Given the description of an element on the screen output the (x, y) to click on. 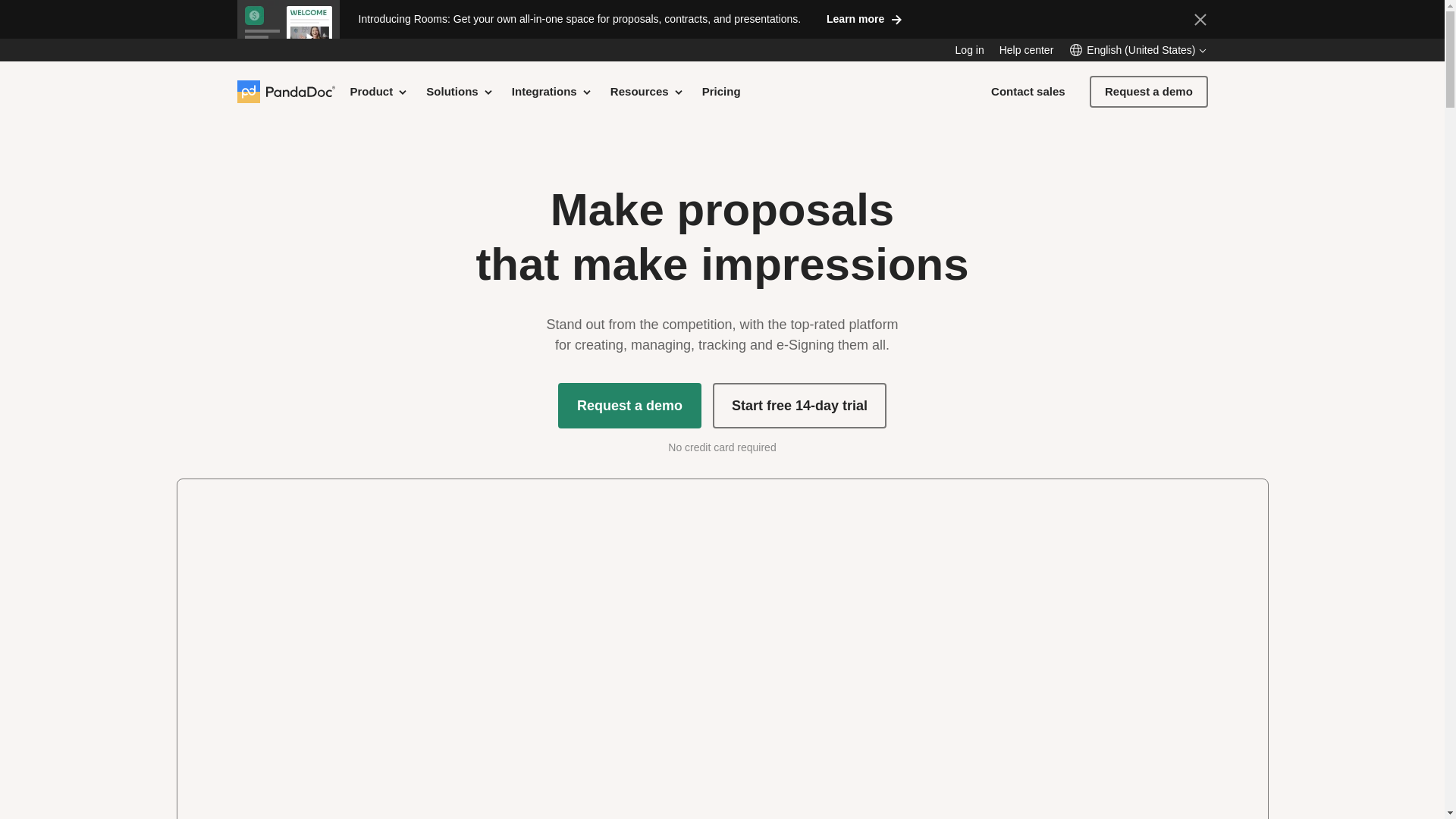
Log in (969, 50)
Product (379, 91)
Solutions (459, 91)
Help center (1026, 50)
Learn more (864, 18)
